Given the description of an element on the screen output the (x, y) to click on. 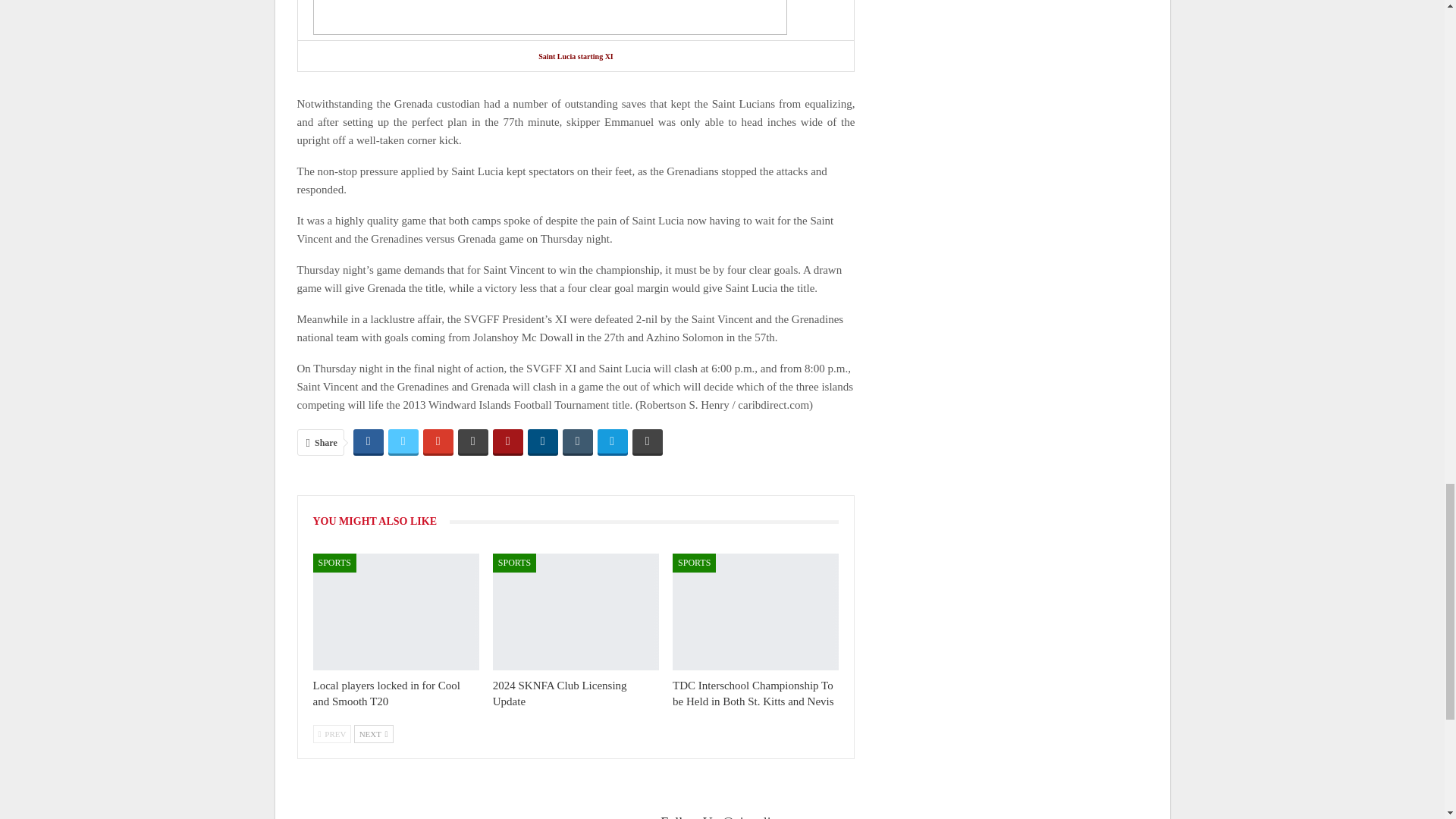
Previous (331, 733)
Next (373, 733)
Local players locked in for Cool and Smooth T20 (386, 693)
2024 SKNFA Club Licensing Update (560, 693)
Local players locked in for Cool and Smooth T20 (396, 611)
2024 SKNFA Club Licensing Update (576, 611)
